Given the description of an element on the screen output the (x, y) to click on. 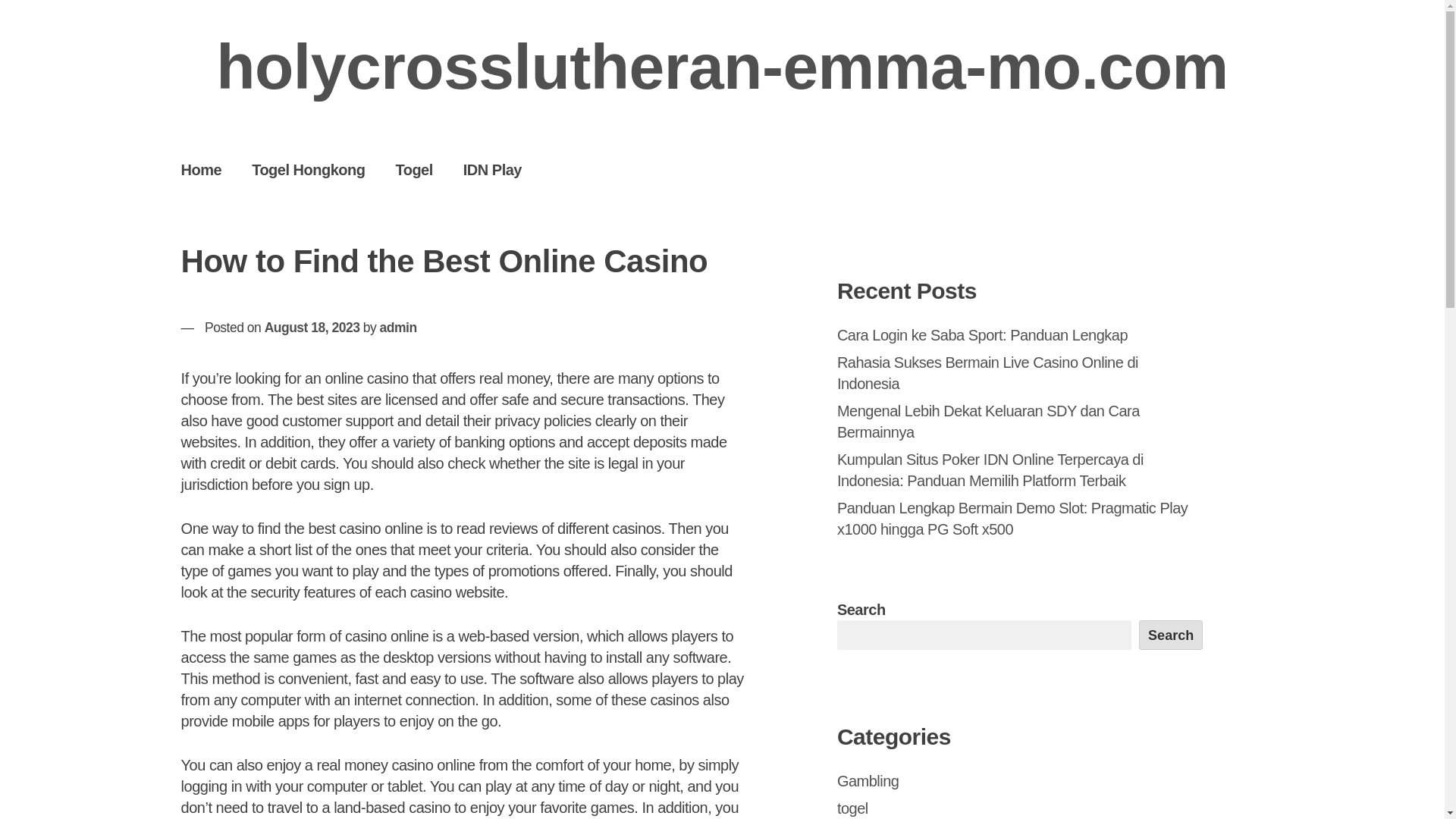
IDN Play (492, 169)
togel (852, 808)
Search (1171, 634)
Mengenal Lebih Dekat Keluaran SDY dan Cara Bermainnya (988, 421)
August 18, 2023 (311, 327)
Gambling (868, 781)
Togel (413, 169)
admin (398, 327)
holycrosslutheran-emma-mo.com (721, 66)
Cara Login ke Saba Sport: Panduan Lengkap (981, 334)
Togel Hongkong (307, 169)
Home (201, 169)
Rahasia Sukses Bermain Live Casino Online di Indonesia (987, 372)
